Given the description of an element on the screen output the (x, y) to click on. 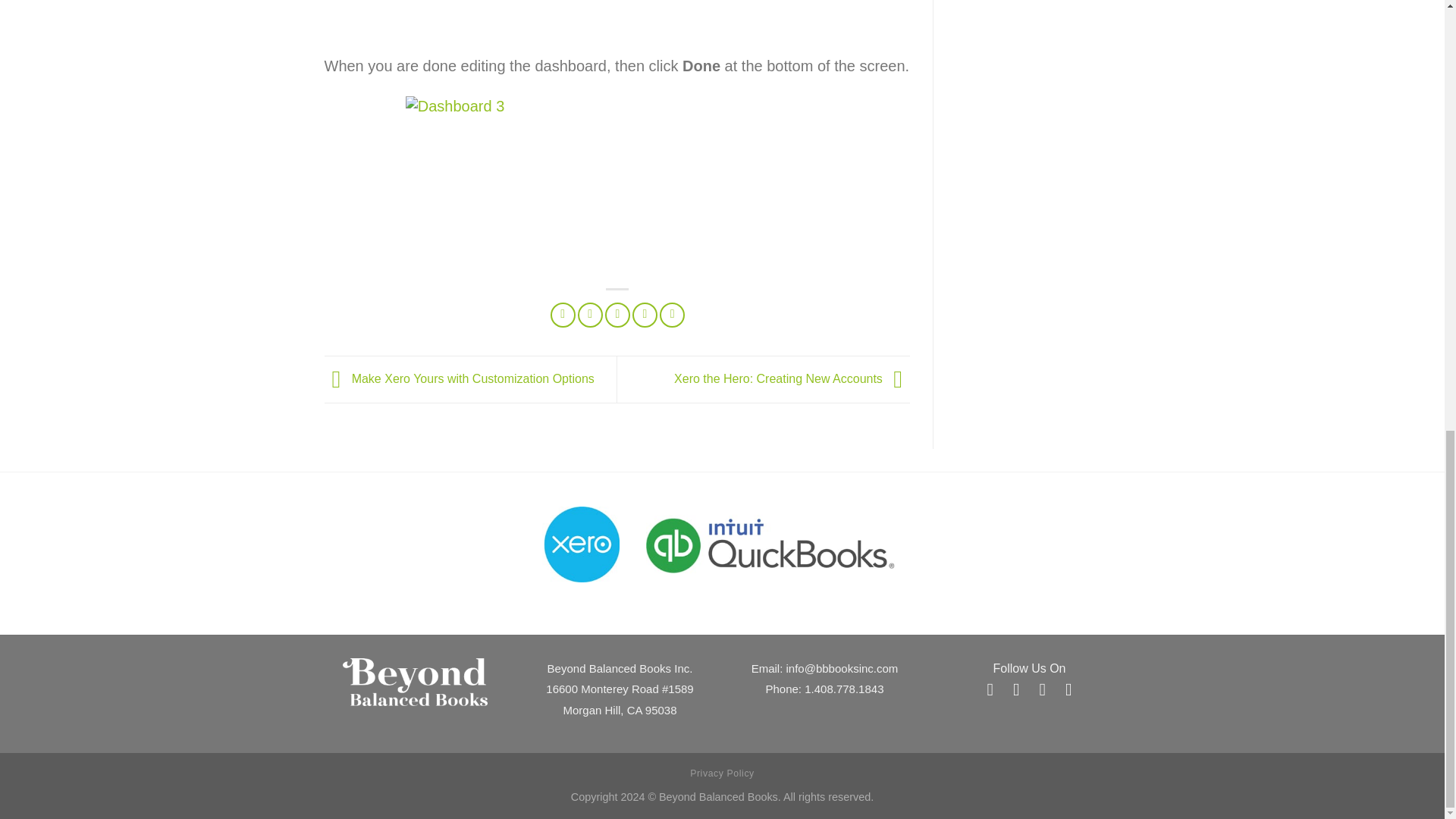
Make Xero Yours with Customization Options (459, 378)
Privacy Policy (722, 773)
Xero the Hero: Creating New Accounts (792, 378)
